Given the description of an element on the screen output the (x, y) to click on. 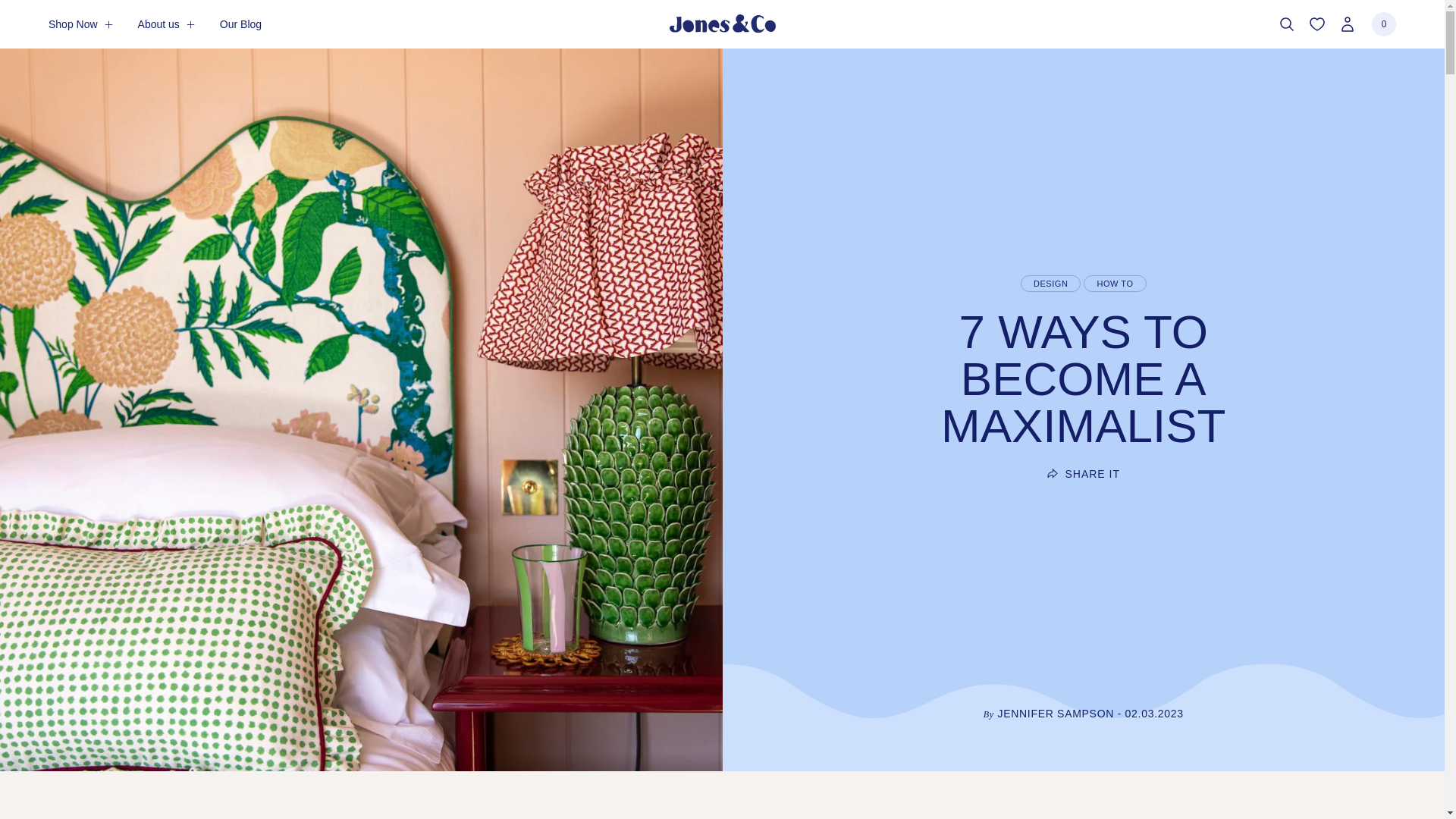
Our Blog (240, 24)
Shop Now (80, 24)
View my wishlist (1316, 24)
About us (166, 24)
Login (1383, 24)
